Given the description of an element on the screen output the (x, y) to click on. 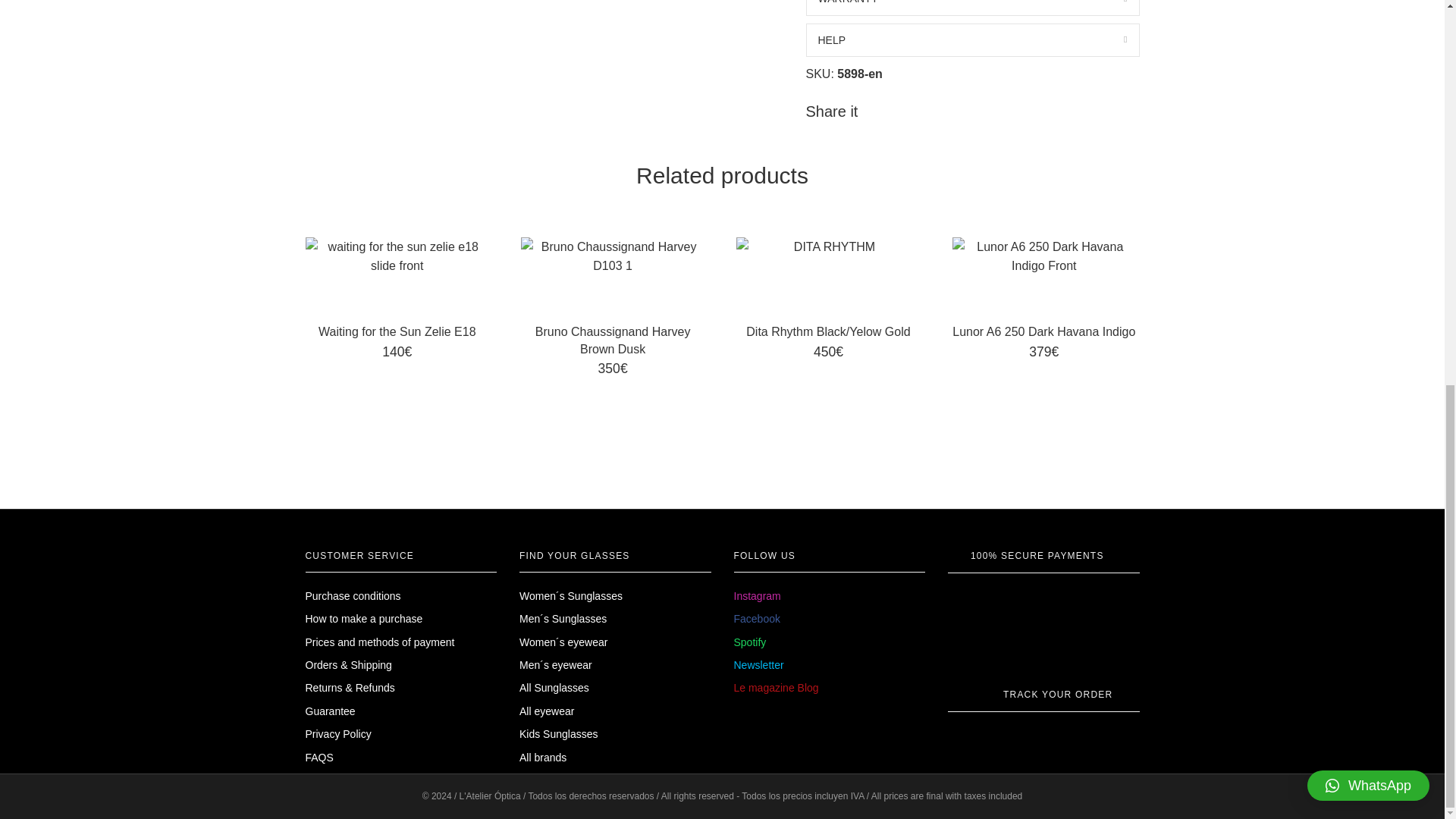
VISA MASTER CARD (988, 596)
